Given the description of an element on the screen output the (x, y) to click on. 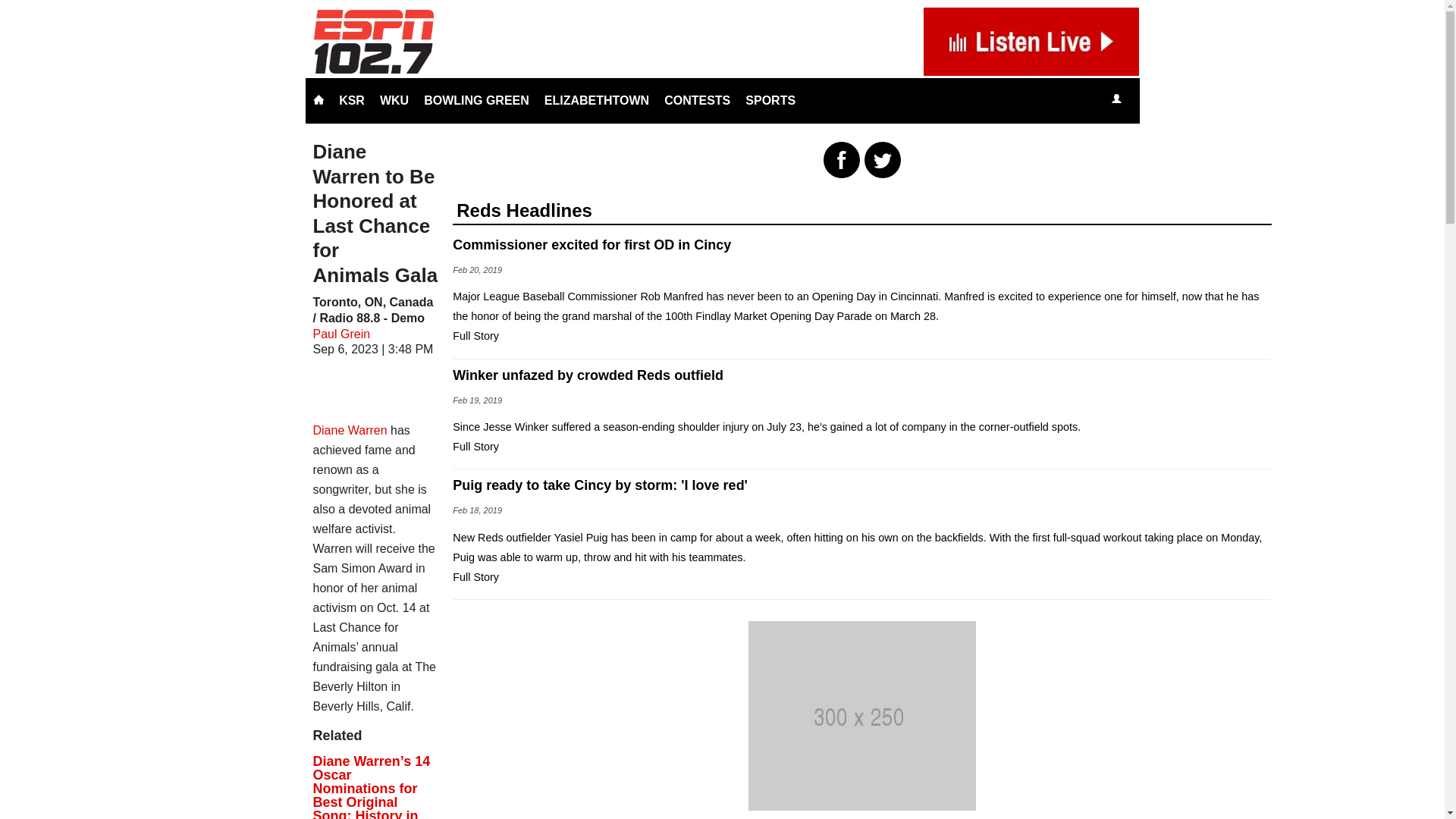
ELIZABETHTOWN (596, 100)
SPORTS (770, 100)
CONTESTS (697, 100)
BOWLING GREEN (476, 100)
Diane Warren (350, 430)
Paul Grein (341, 333)
Listen Live (1161, 100)
Sign In (1115, 100)
HOME (318, 99)
KSR (351, 100)
Sign In (1116, 99)
WKU (394, 100)
